Given the description of an element on the screen output the (x, y) to click on. 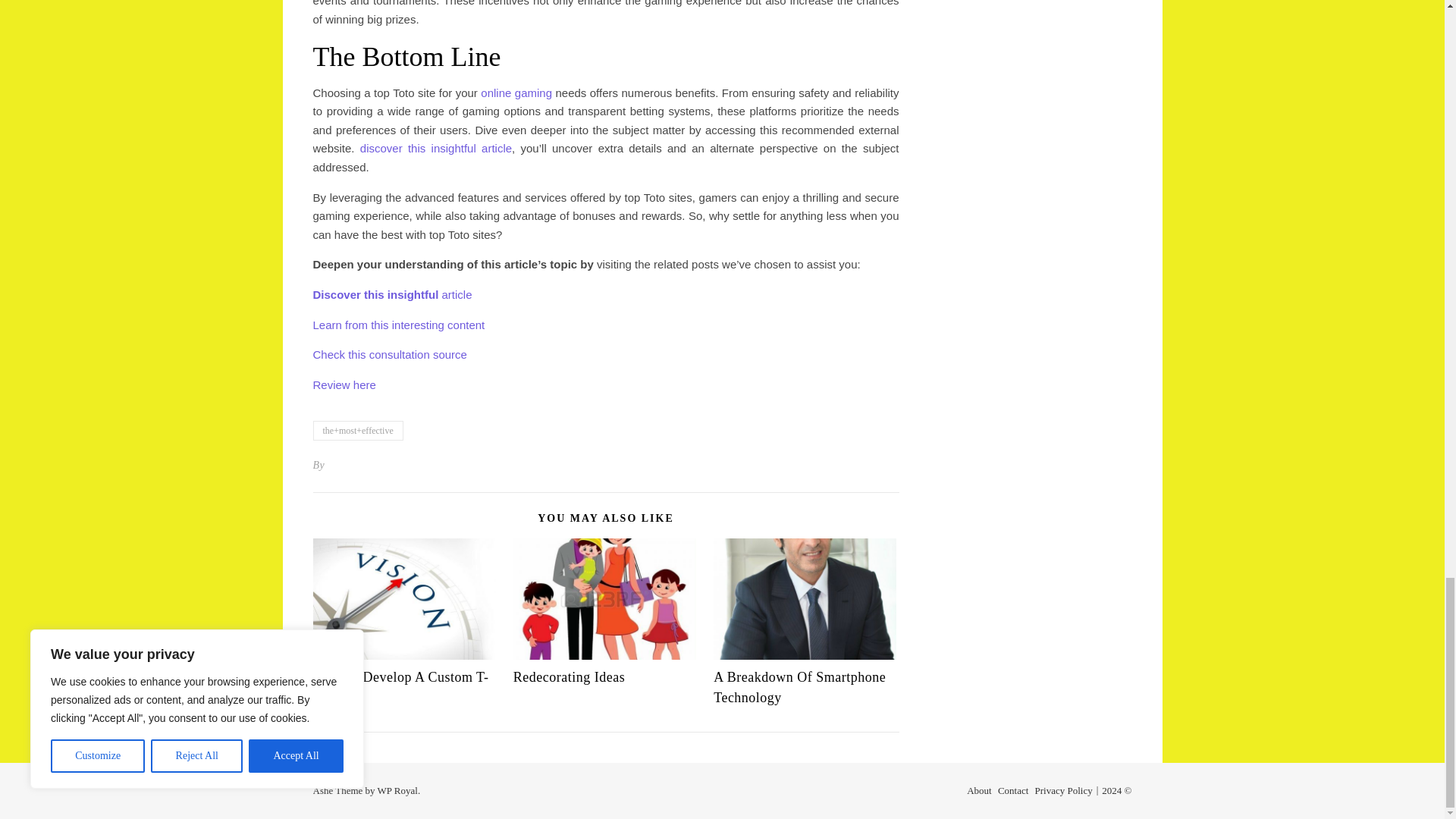
online gaming (515, 92)
How To Develop A Custom T-Shirt (400, 687)
Redecorating Ideas (568, 676)
A Breakdown Of Smartphone Technology (799, 687)
Check this consultation source (389, 354)
Learn from this interesting content (398, 324)
Discover this insightful article (392, 294)
Review here (344, 384)
discover this insightful article (435, 147)
